Given the description of an element on the screen output the (x, y) to click on. 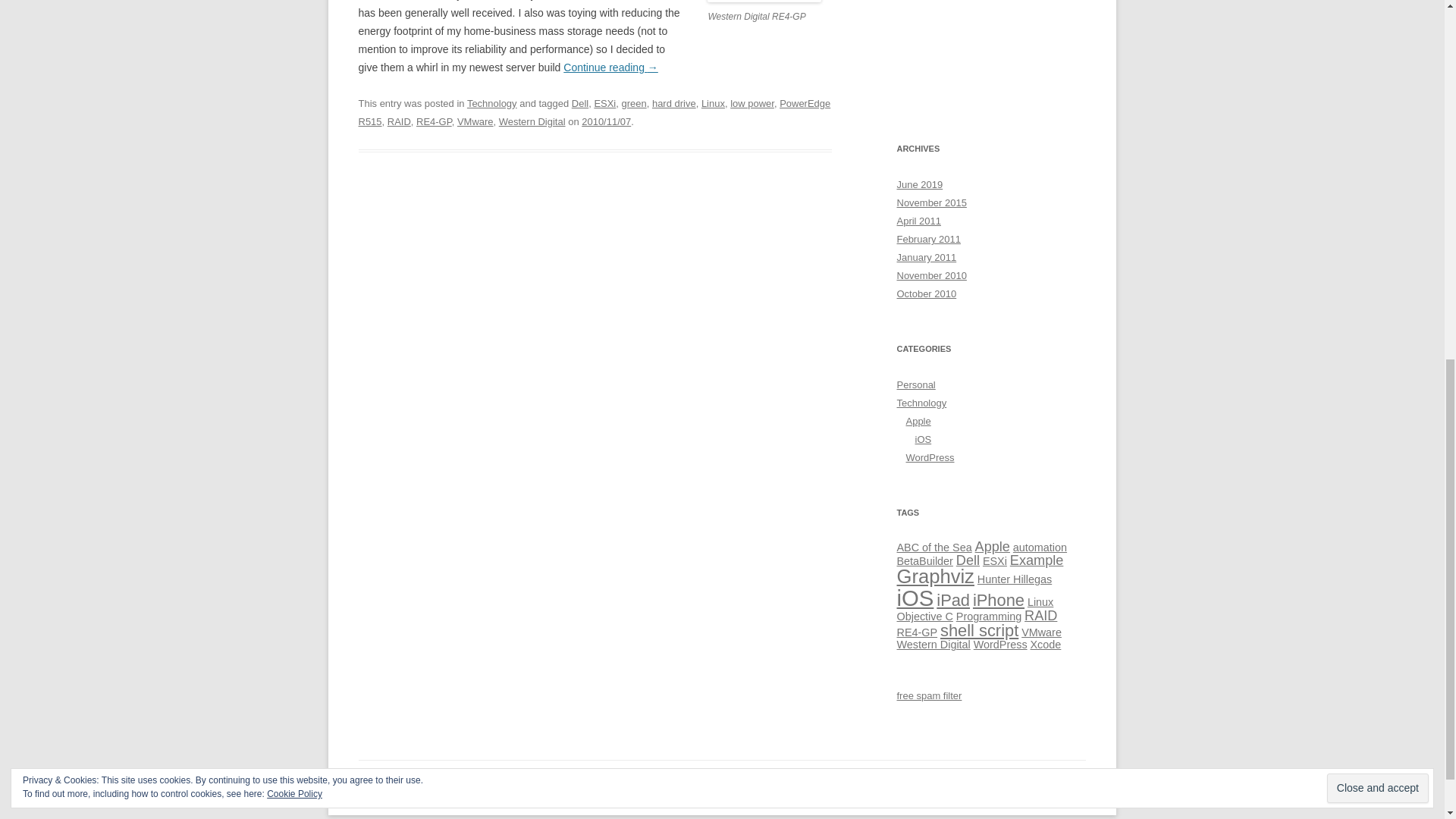
Advertisement (991, 51)
Dell (580, 102)
Western Digital RE4-GP Hard Drive (764, 1)
2 (1040, 547)
green (633, 102)
Technology (491, 102)
Close and accept (1377, 110)
3 (992, 546)
hard drive (673, 102)
low power (752, 102)
RAID (398, 121)
Western Digital (532, 121)
VMware (475, 121)
2 (933, 547)
Linux (713, 102)
